Given the description of an element on the screen output the (x, y) to click on. 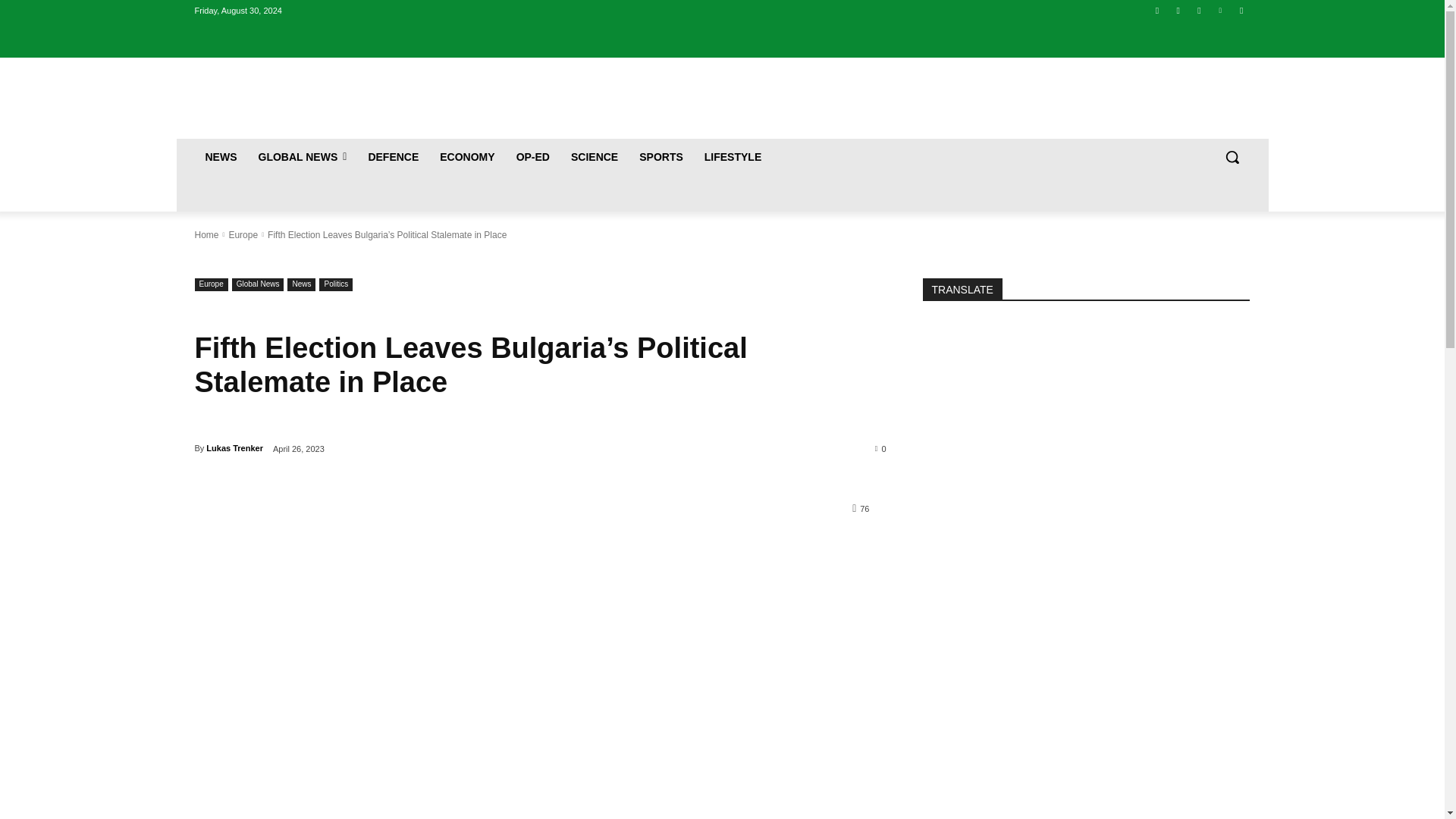
Instagram (1177, 9)
Vimeo (1219, 9)
Facebook (1157, 9)
Twitter (1199, 9)
View all posts in Europe (242, 235)
Youtube (1241, 9)
